Given the description of an element on the screen output the (x, y) to click on. 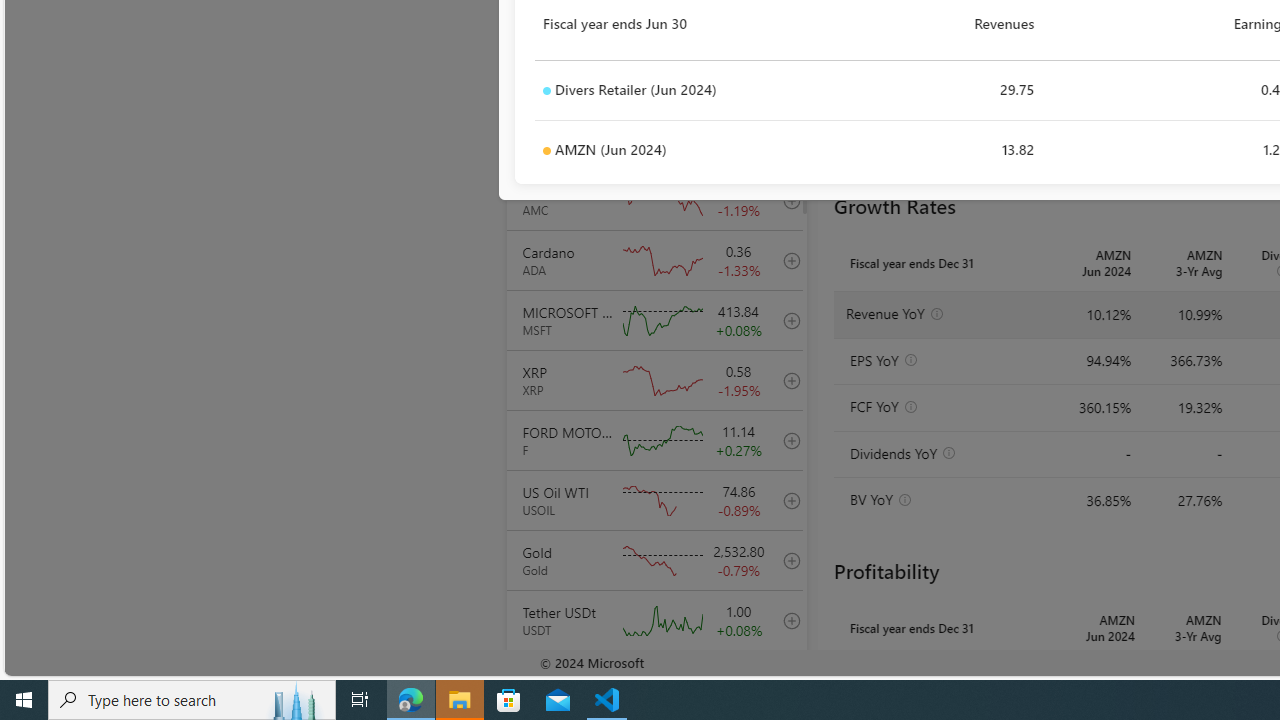
add to your watchlist (786, 680)
Class: symbolDot-DS-EntryPoint1-2 (546, 151)
